Given the description of an element on the screen output the (x, y) to click on. 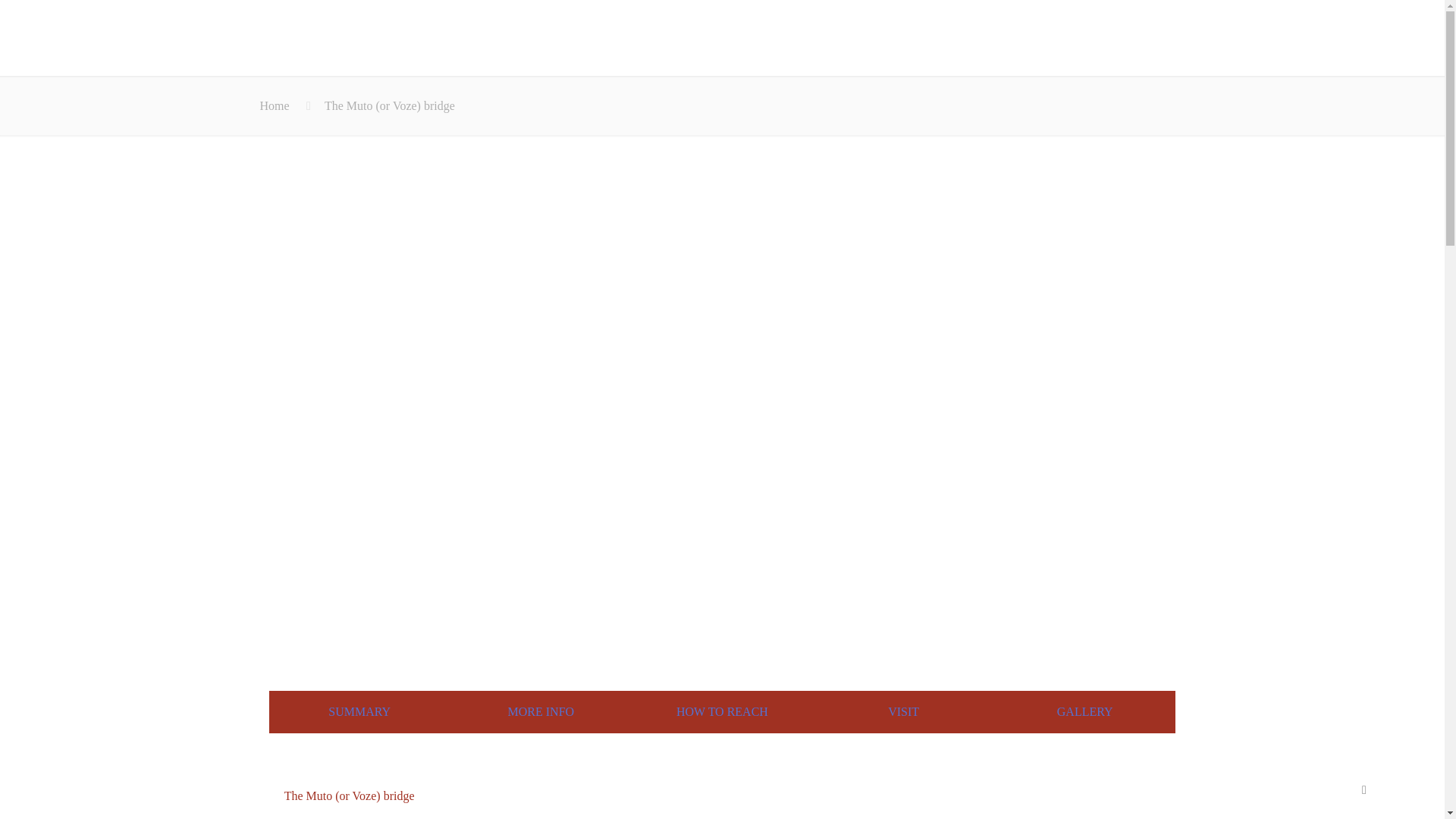
SUMMARY (359, 712)
VISIT (903, 712)
HOW TO REACH (721, 712)
MORE INFO (540, 712)
Home (273, 105)
GALLERY (1084, 712)
